Given the description of an element on the screen output the (x, y) to click on. 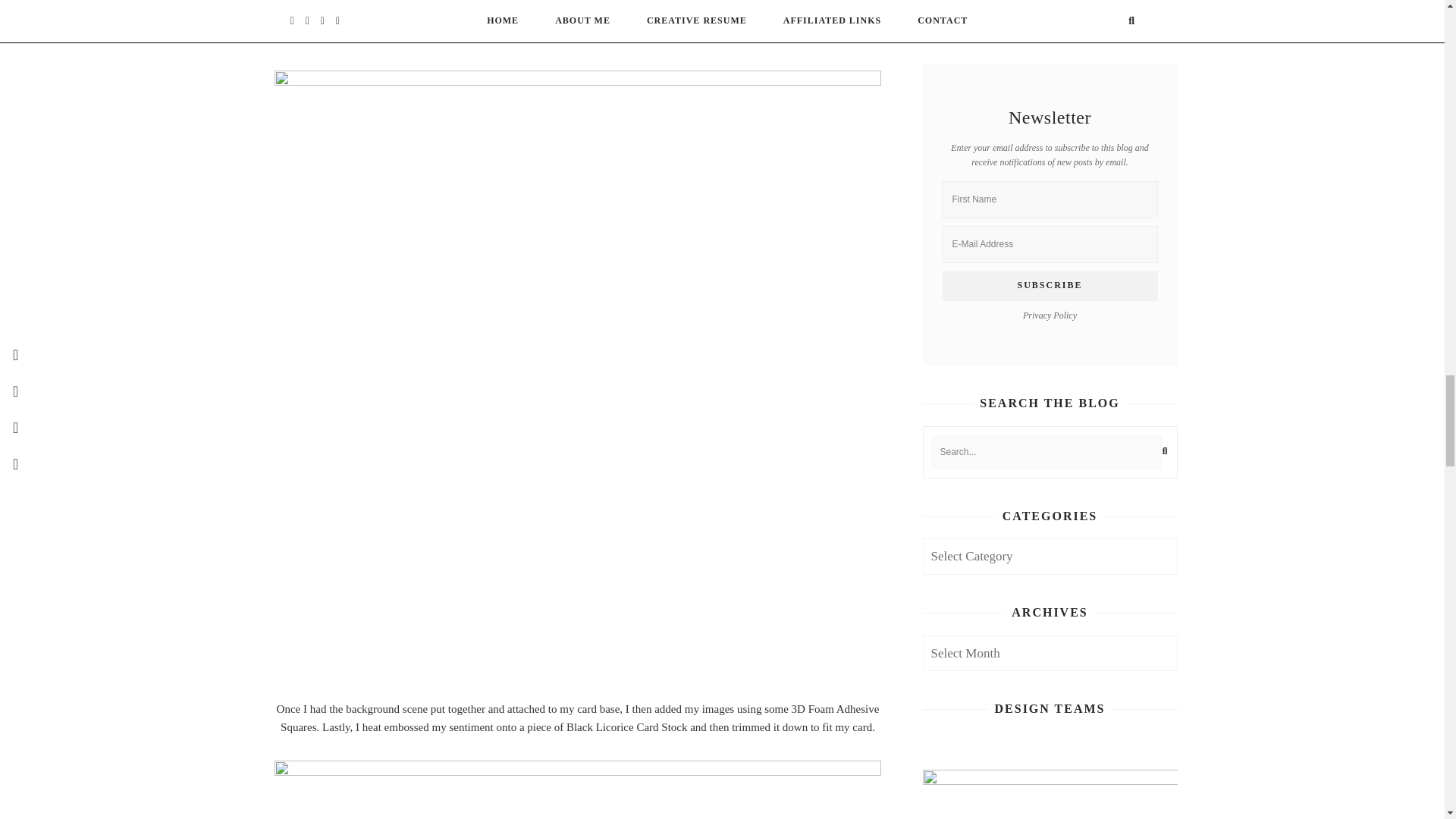
Subscribe (1049, 286)
